Given the description of an element on the screen output the (x, y) to click on. 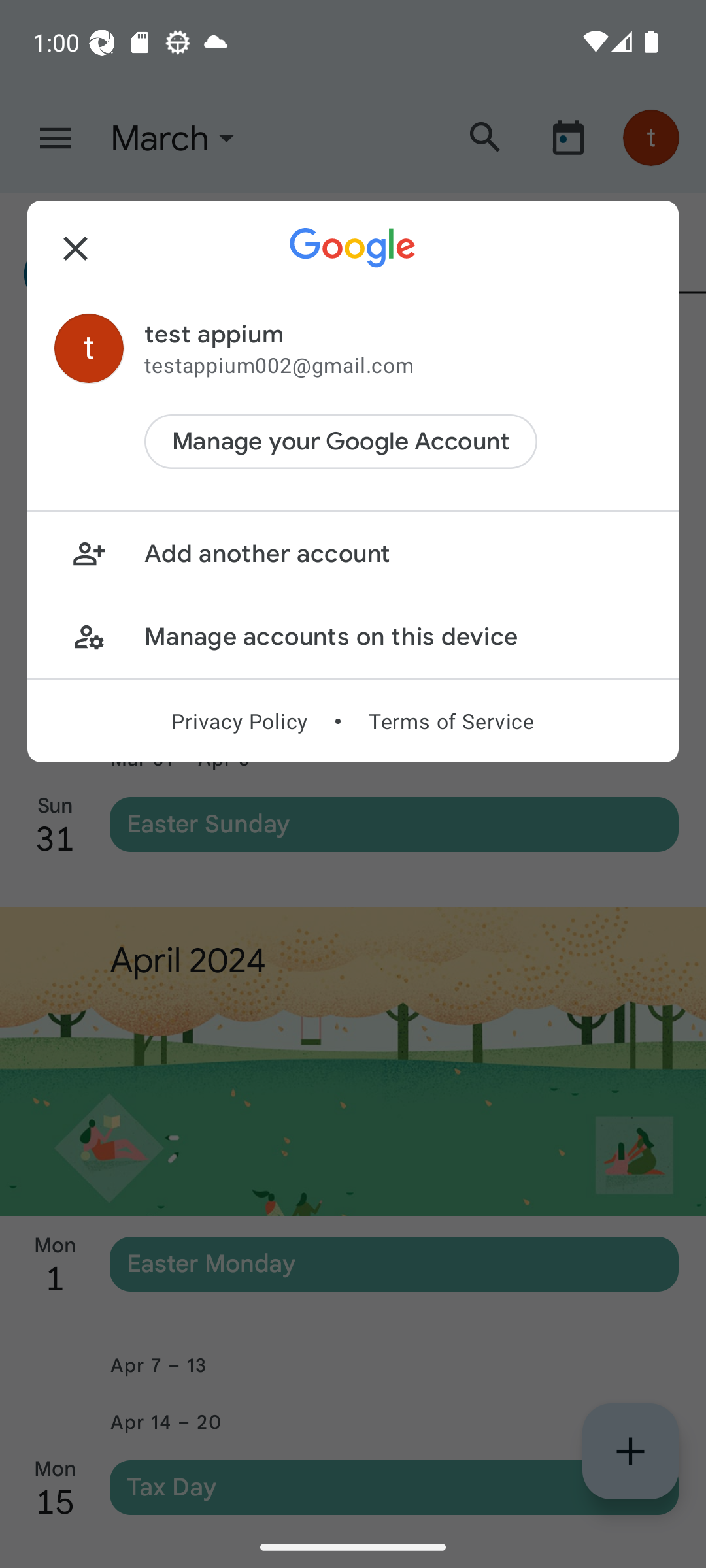
Close (75, 248)
Manage your Google Account (340, 440)
Add another account (353, 553)
Manage accounts on this device (353, 636)
Privacy Policy (239, 721)
Terms of Service (450, 721)
